Given the description of an element on the screen output the (x, y) to click on. 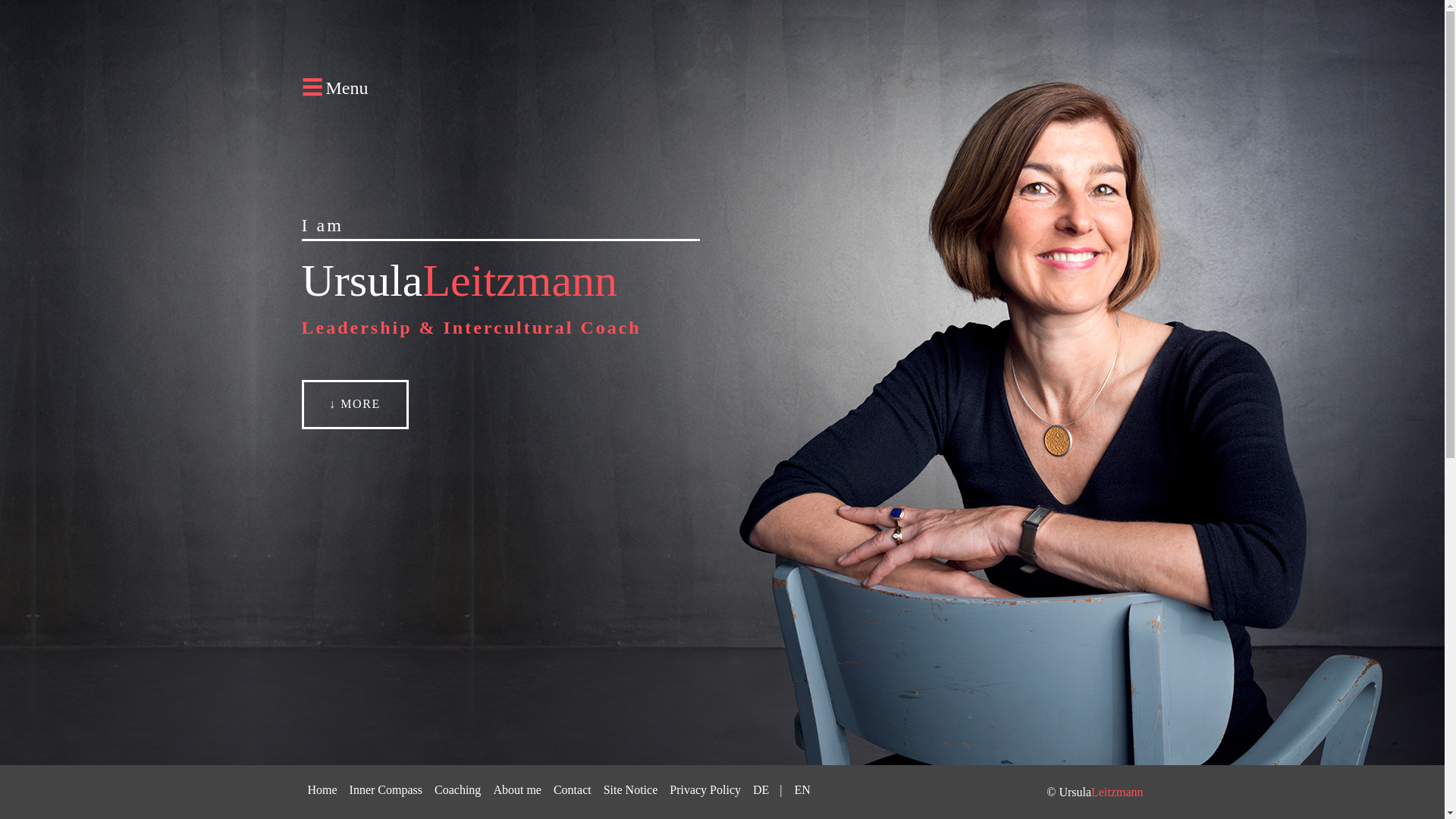
About me (516, 789)
Site Notice (629, 789)
Contact (571, 789)
Coaching (457, 789)
Privacy Policy (704, 789)
EN (802, 789)
Inner Compass (385, 789)
